Given the description of an element on the screen output the (x, y) to click on. 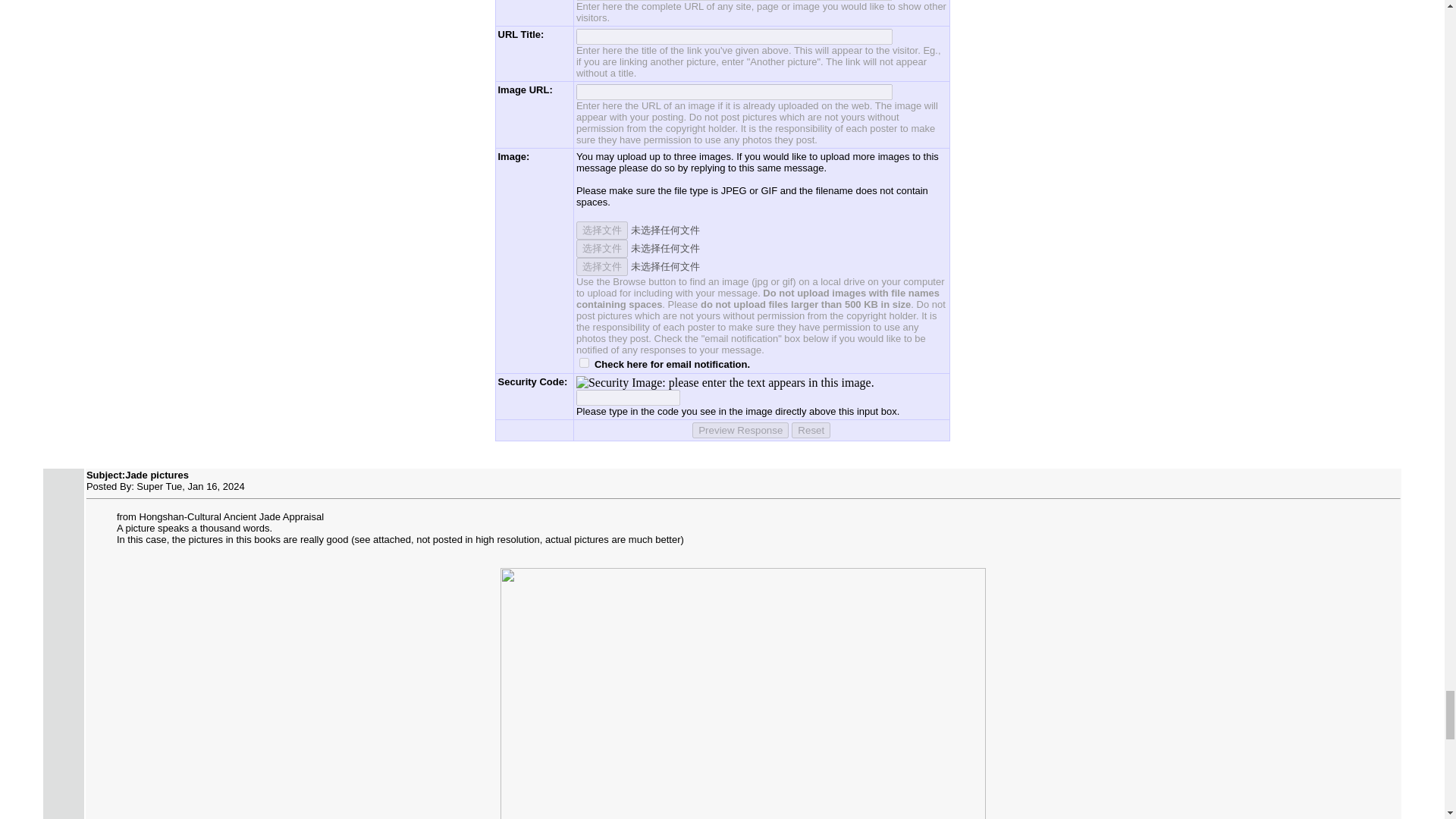
Preview Response (741, 430)
Reset (810, 430)
1 (584, 362)
